Given the description of an element on the screen output the (x, y) to click on. 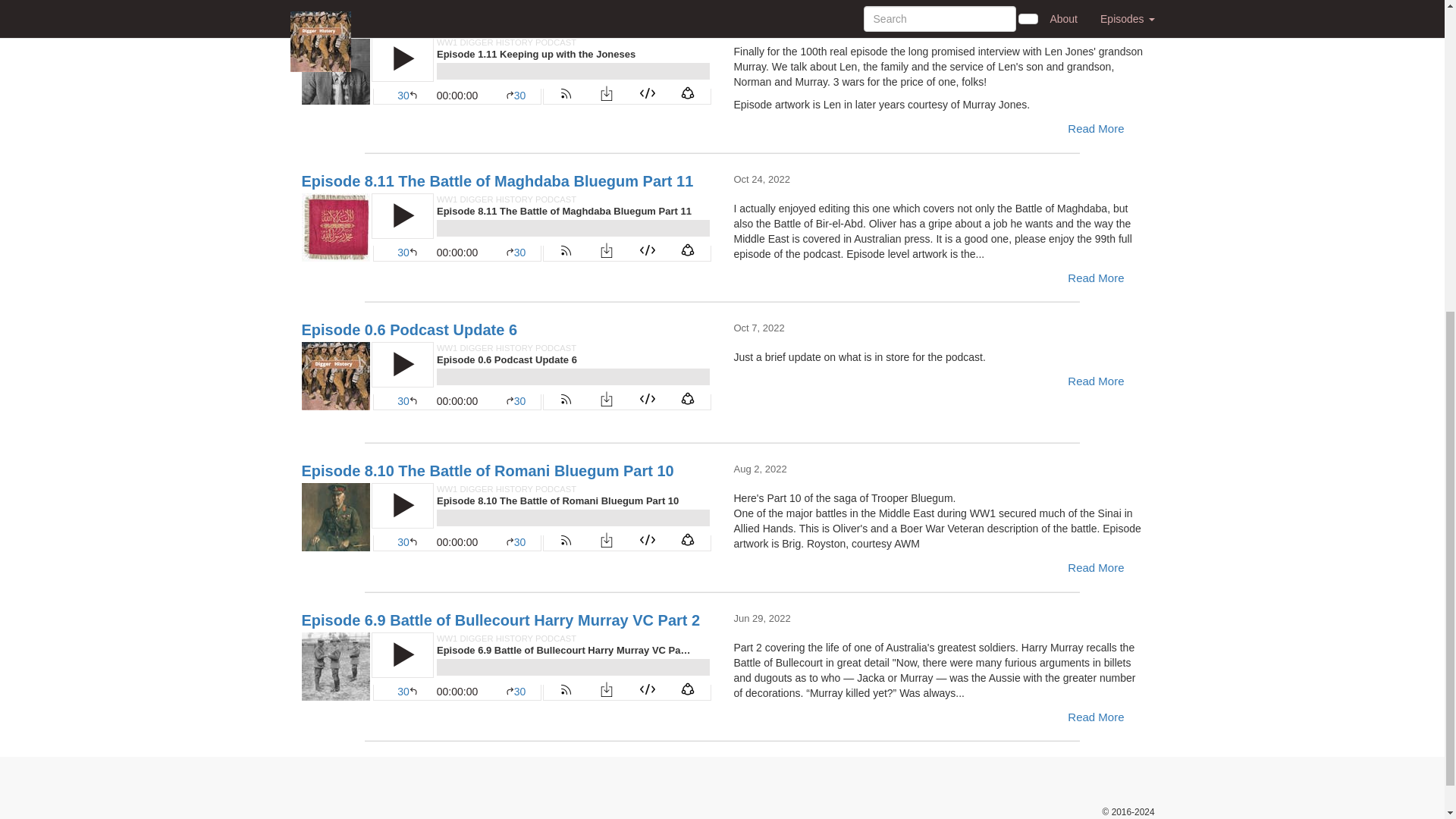
Episode 0.6 Podcast Update 6 (506, 376)
Episode 8.10 The Battle of Romani Bluegum Part 10 (506, 517)
Episode 8.11 The Battle of Maghdaba Bluegum Part 11 (506, 227)
Episode 1.11 Keeping up with the Joneses (506, 70)
Episode 6.9 Battle of Bullecourt Harry Murray VC Part 2 (506, 666)
